Given the description of an element on the screen output the (x, y) to click on. 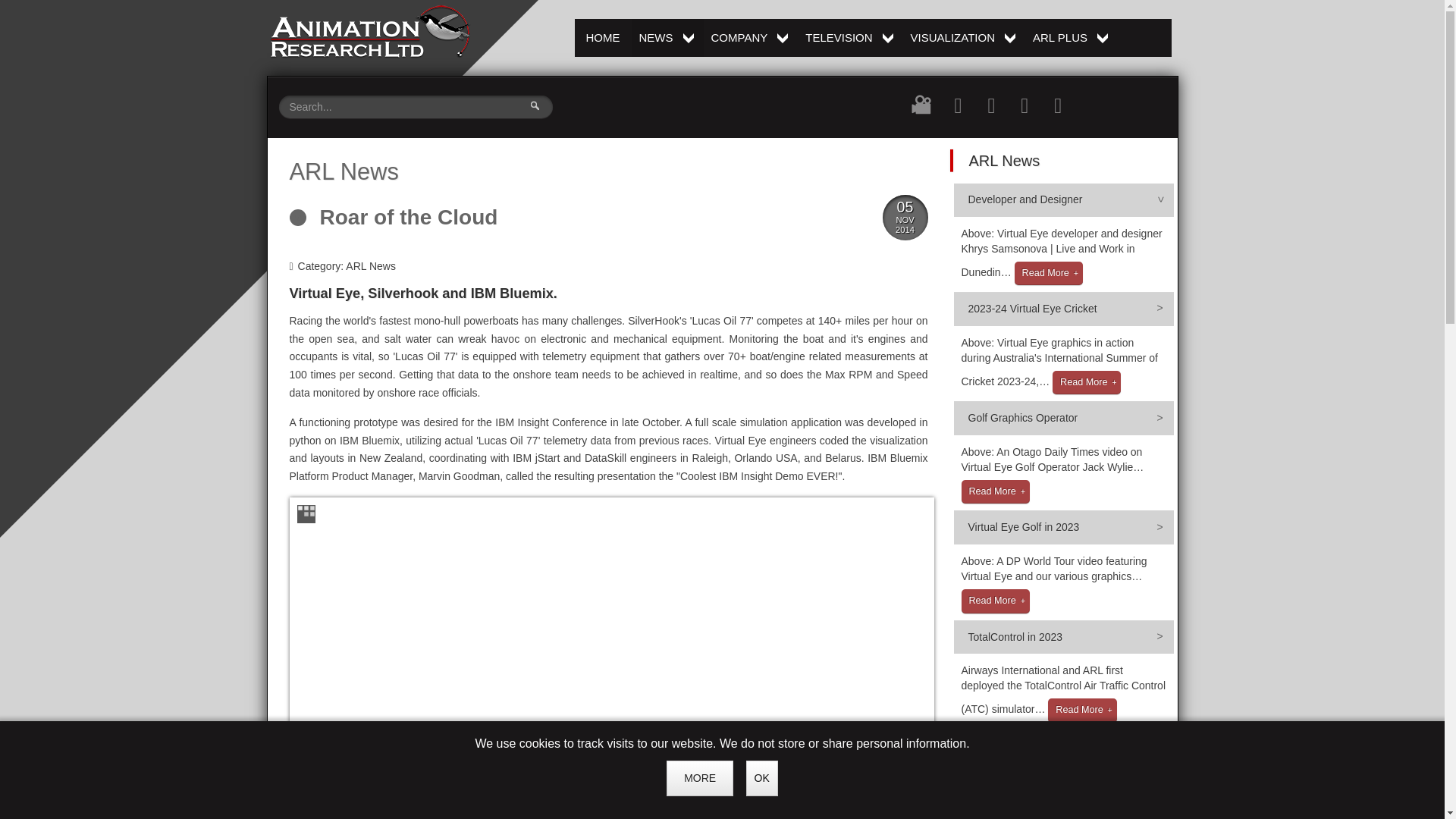
ARL LinkedIn (666, 37)
ARL Facebook (1024, 105)
ARL Home (750, 37)
Virtual Eye Twitter (849, 37)
Roar of the Cloud (958, 105)
HOME (368, 30)
